Given the description of an element on the screen output the (x, y) to click on. 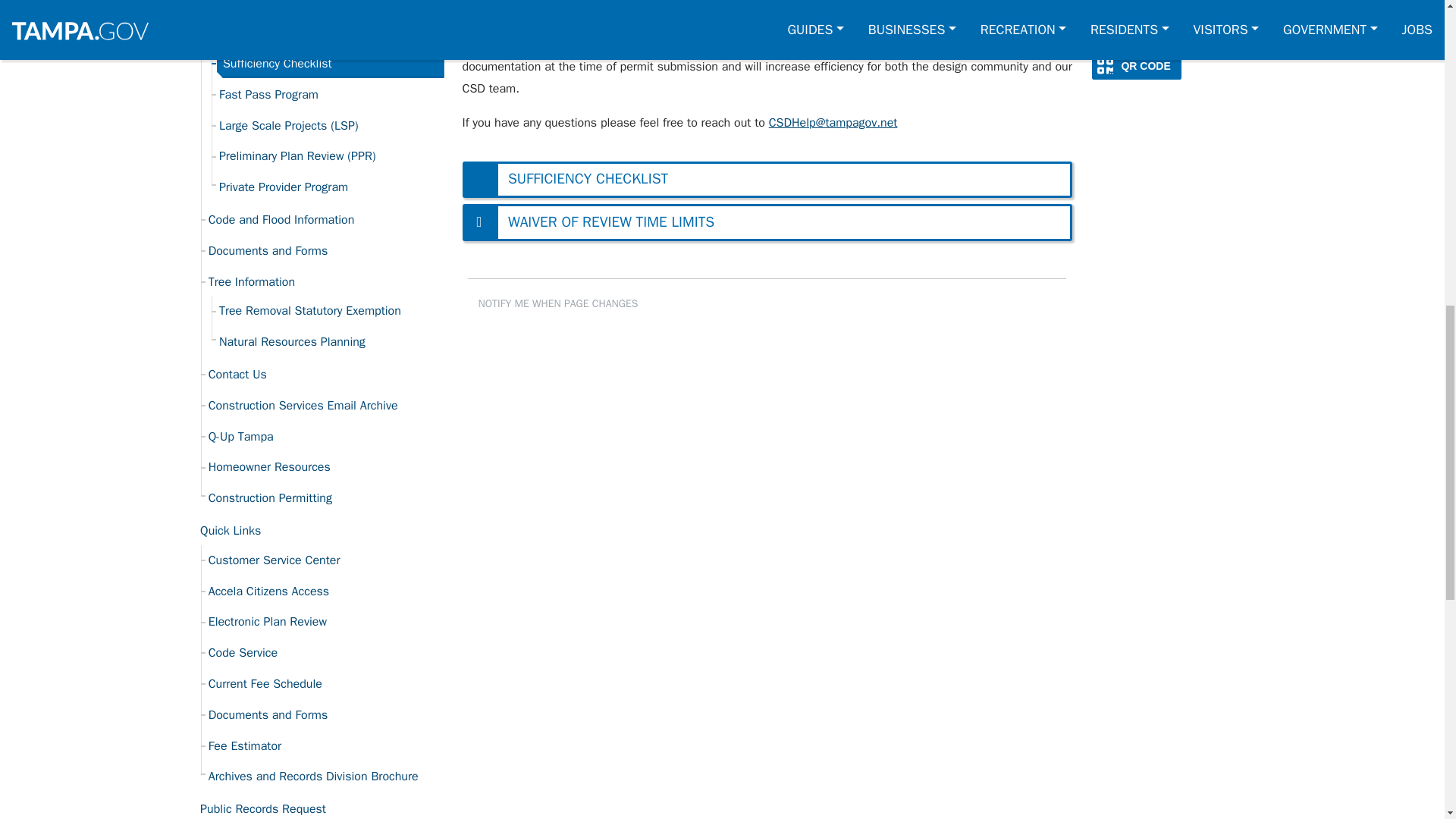
Contact Construction Services (325, 375)
About Archives and Records Division  (325, 776)
Special Programs brought to you by Construction Services (325, 34)
